Given the description of an element on the screen output the (x, y) to click on. 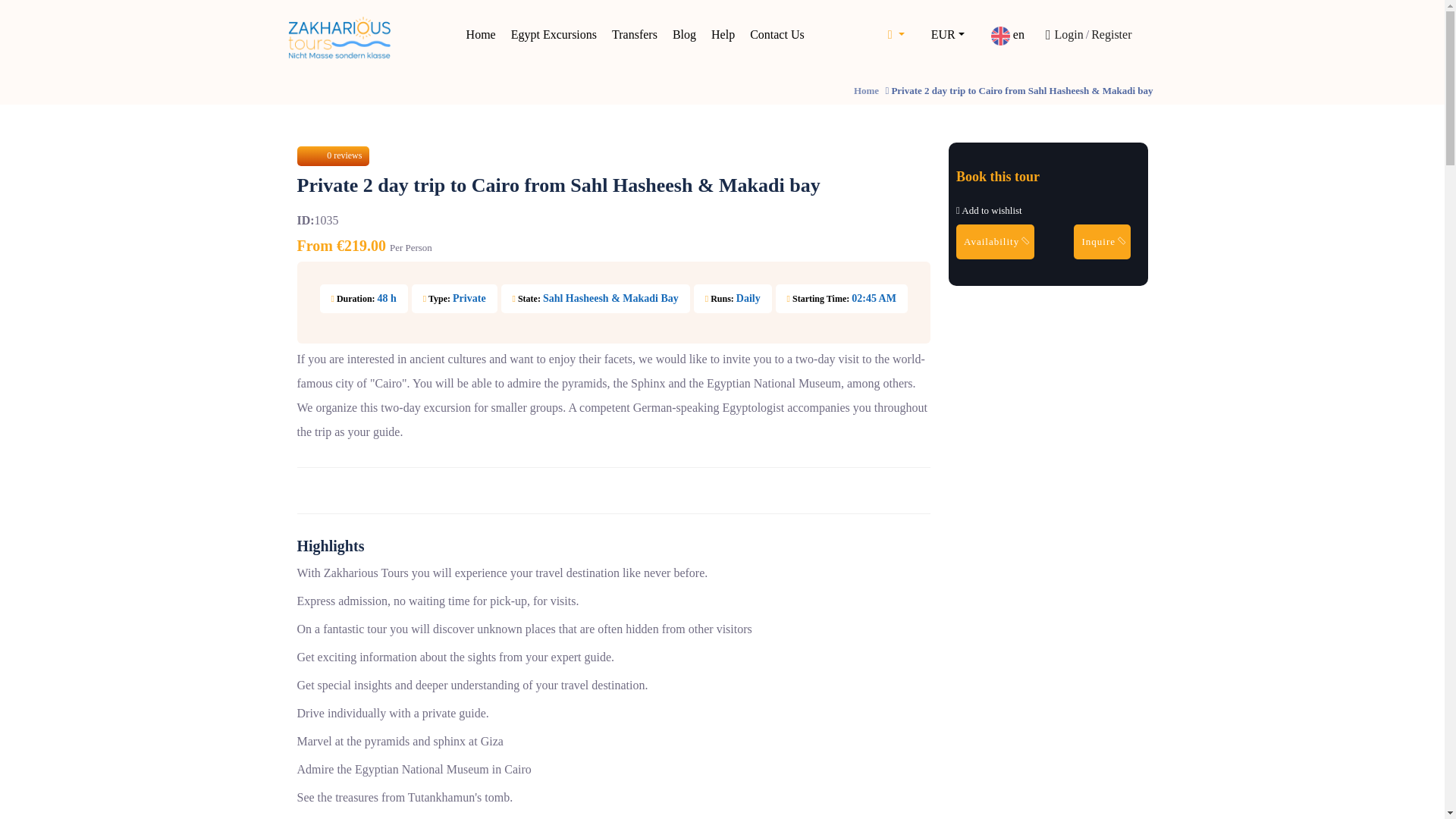
Egypt Excursions (553, 34)
Blog (684, 34)
Contact Us (777, 34)
Register (1111, 34)
Home (866, 90)
Go to Home Page (866, 90)
Help (722, 34)
Home (480, 34)
Login (1064, 34)
Transfers (634, 34)
EUR (947, 34)
en (1008, 34)
